Given the description of an element on the screen output the (x, y) to click on. 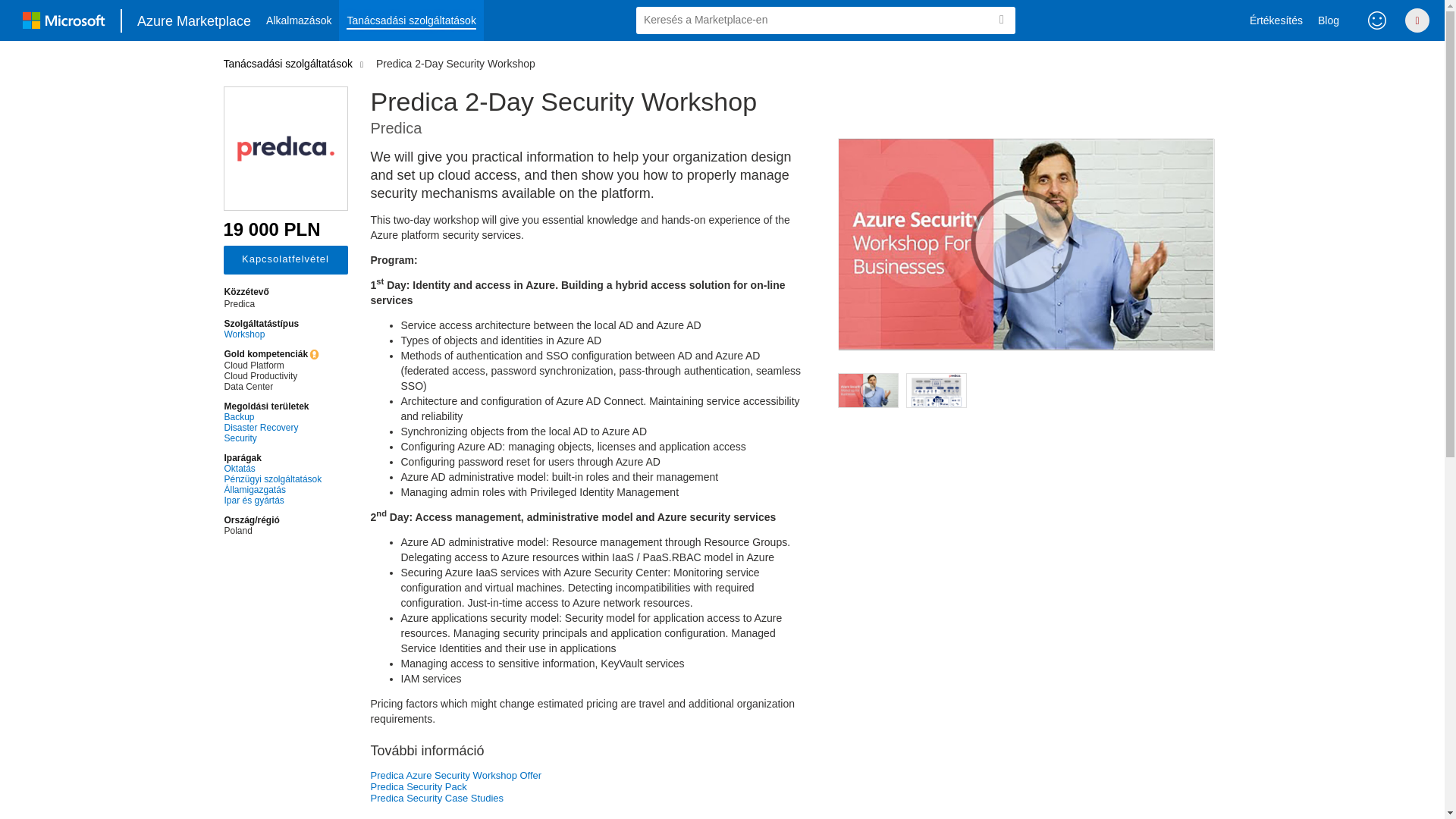
Blog (1328, 20)
Azure Marketplace (194, 20)
Search (1001, 19)
